Given the description of an element on the screen output the (x, y) to click on. 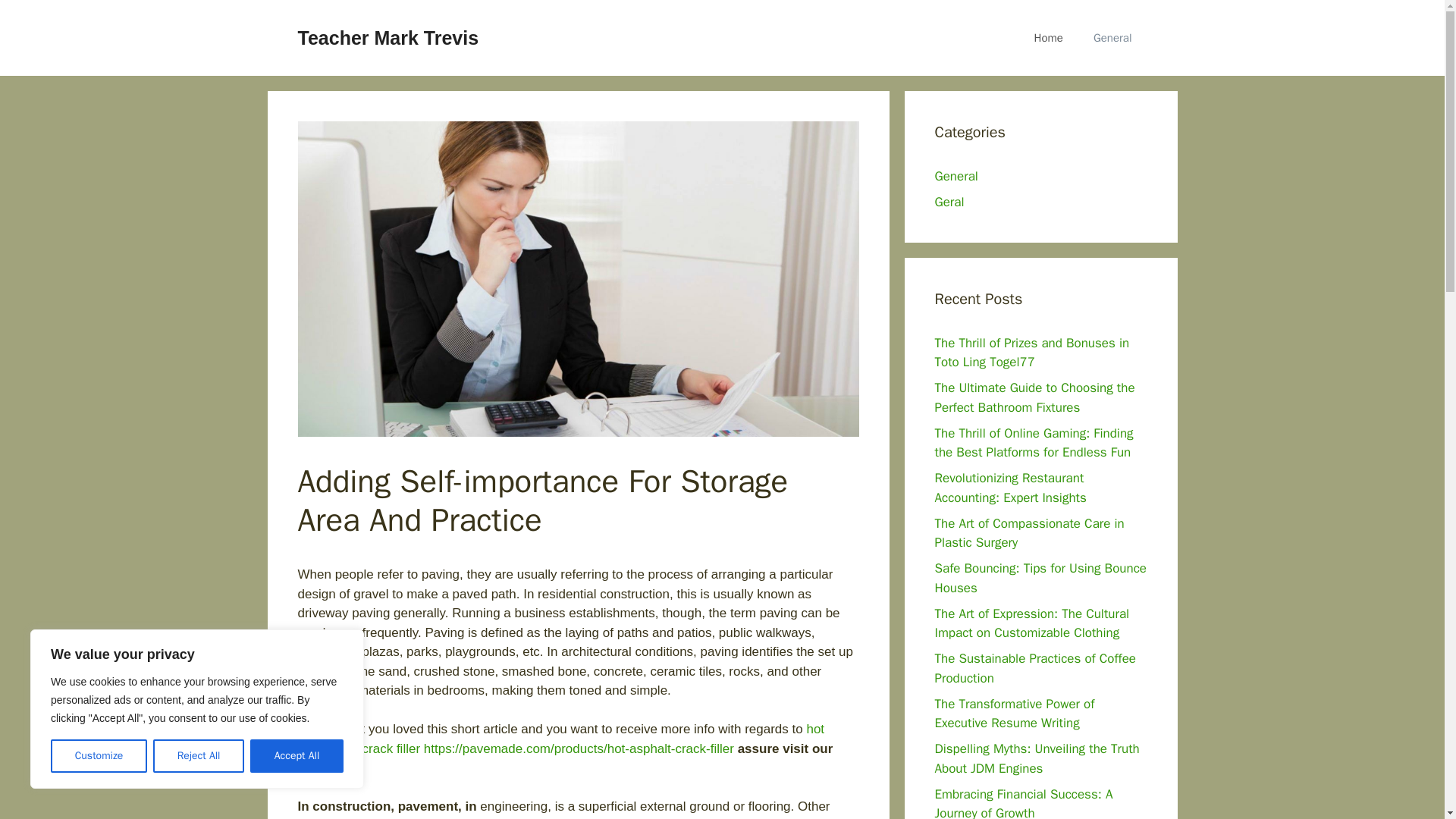
General (1112, 37)
General (955, 176)
The Ultimate Guide to Choosing the Perfect Bathroom Fixtures (1034, 397)
The Art of Compassionate Care in Plastic Surgery (1029, 533)
Revolutionizing Restaurant Accounting: Expert Insights (1010, 488)
Safe Bouncing: Tips for Using Bounce Houses (1039, 578)
The Thrill of Prizes and Bonuses in Toto Ling Togel77 (1031, 352)
Teacher Mark Trevis (388, 37)
